Given the description of an element on the screen output the (x, y) to click on. 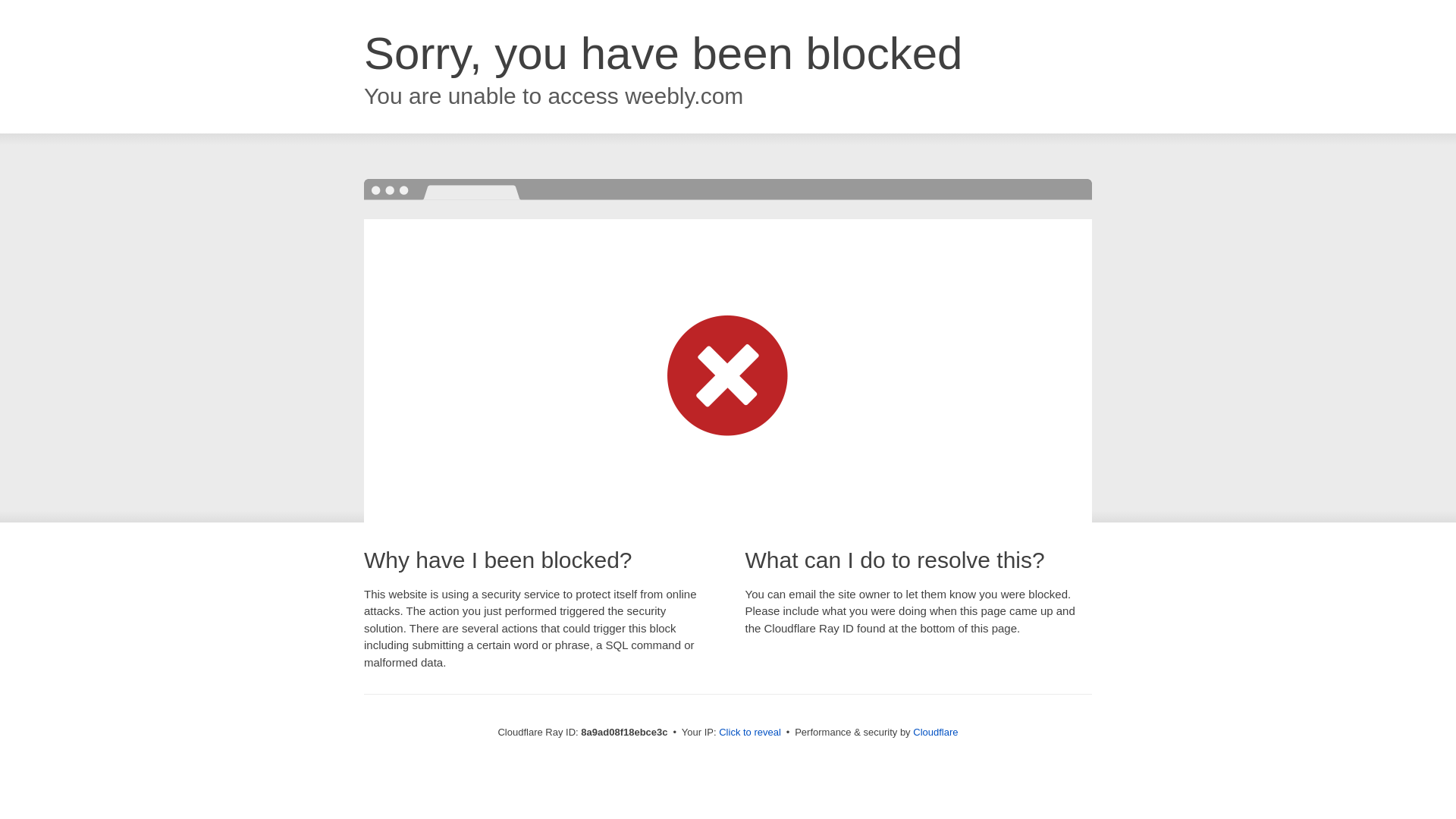
Cloudflare (935, 731)
Click to reveal (749, 732)
